Given the description of an element on the screen output the (x, y) to click on. 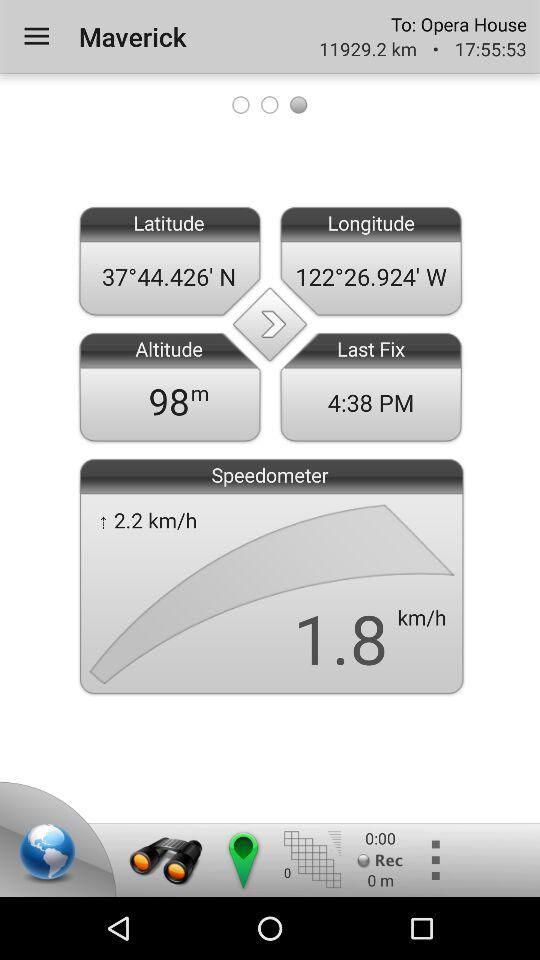
view location on map (51, 855)
